Given the description of an element on the screen output the (x, y) to click on. 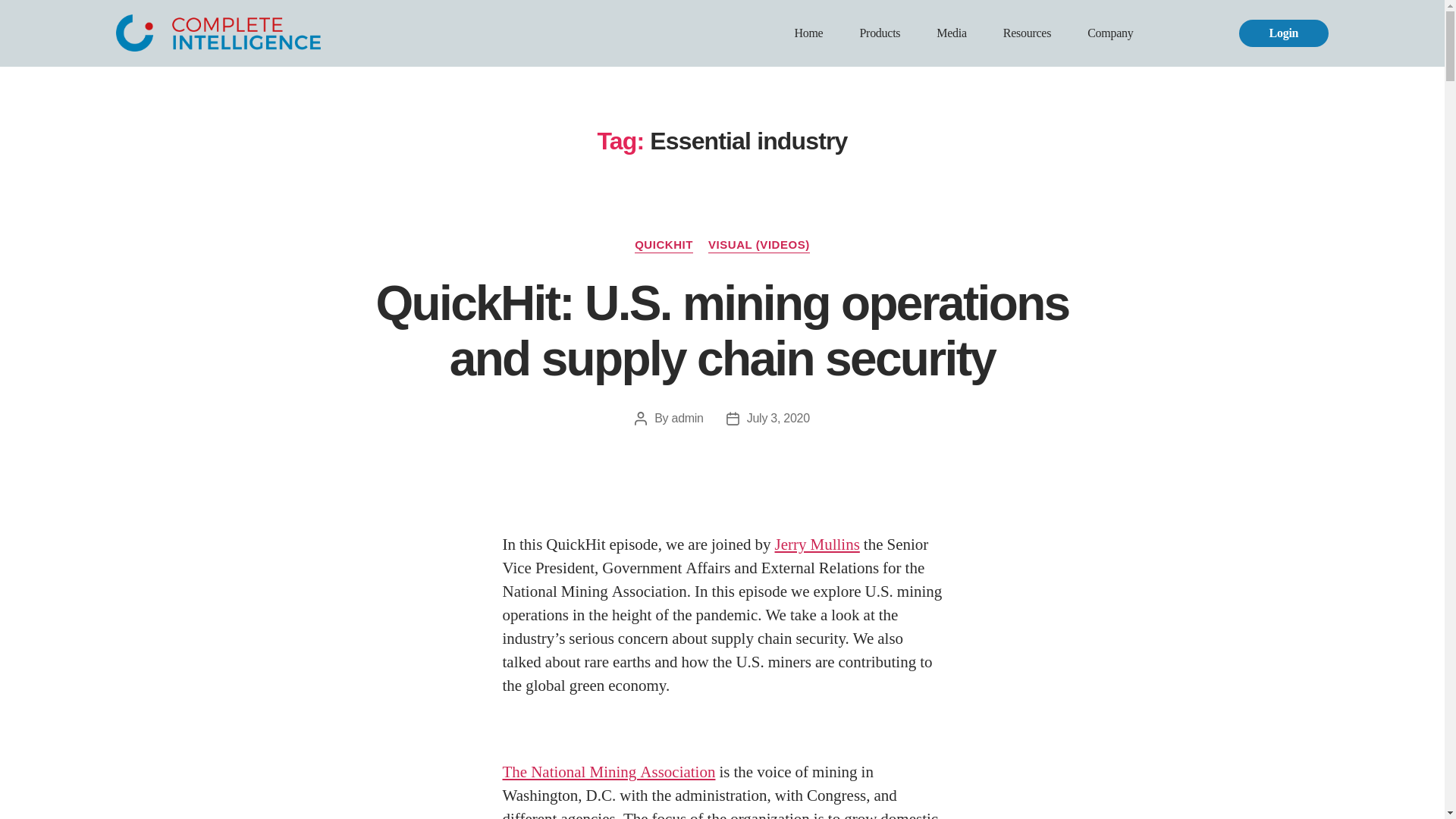
Products (879, 33)
Company (1109, 33)
Resources (1027, 33)
Media (951, 33)
Home (807, 33)
